Given the description of an element on the screen output the (x, y) to click on. 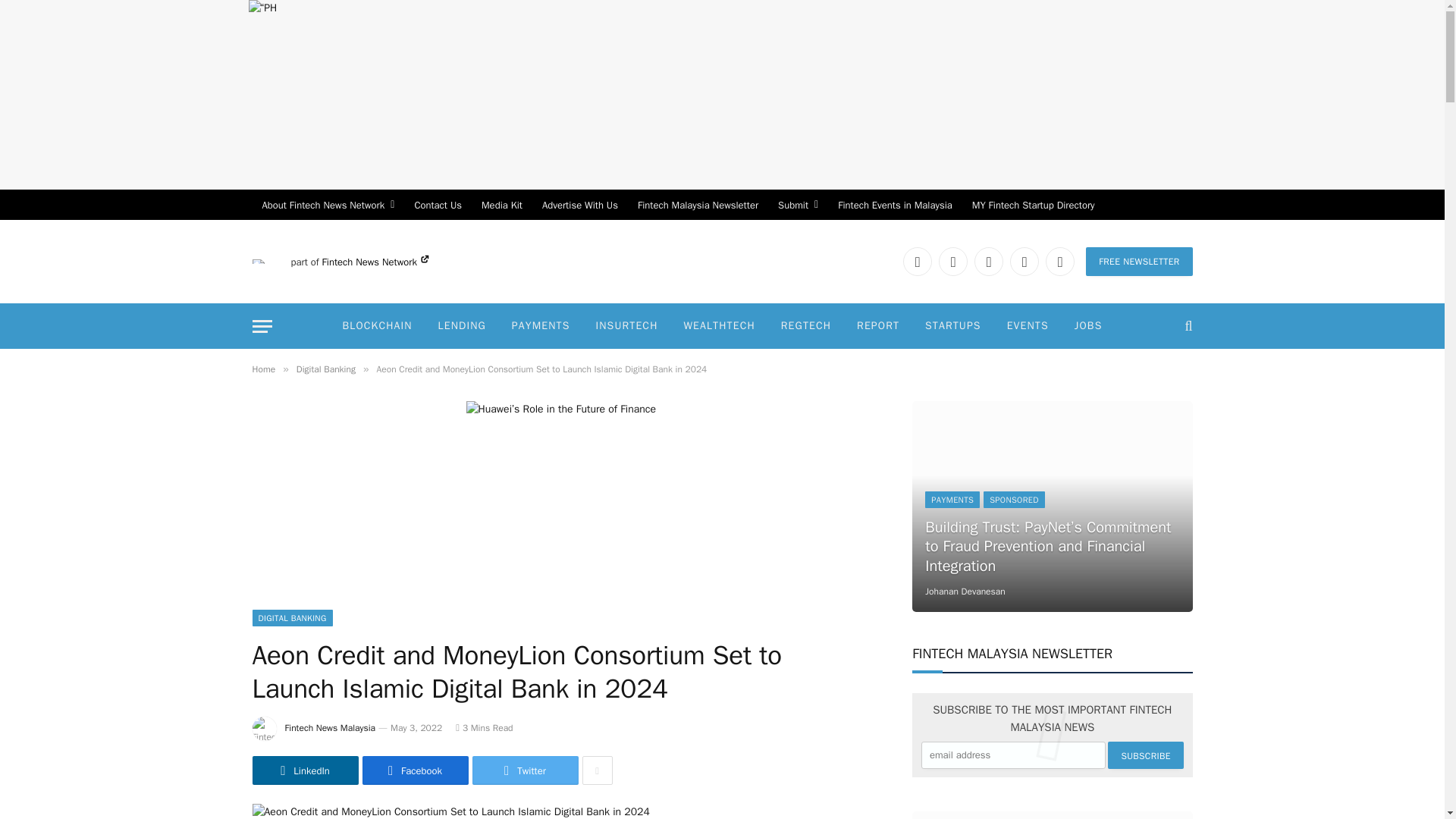
Share on LinkedIn (304, 769)
Advertise With Us (579, 204)
Share on Facebook (415, 769)
LinkedIn (916, 261)
Subscribe (1145, 755)
Facebook (953, 261)
Fintech Events in Malaysia (895, 204)
Posts by Fintech News Malaysia (330, 727)
Fintech Malaysia Newsletter (697, 204)
